Given the description of an element on the screen output the (x, y) to click on. 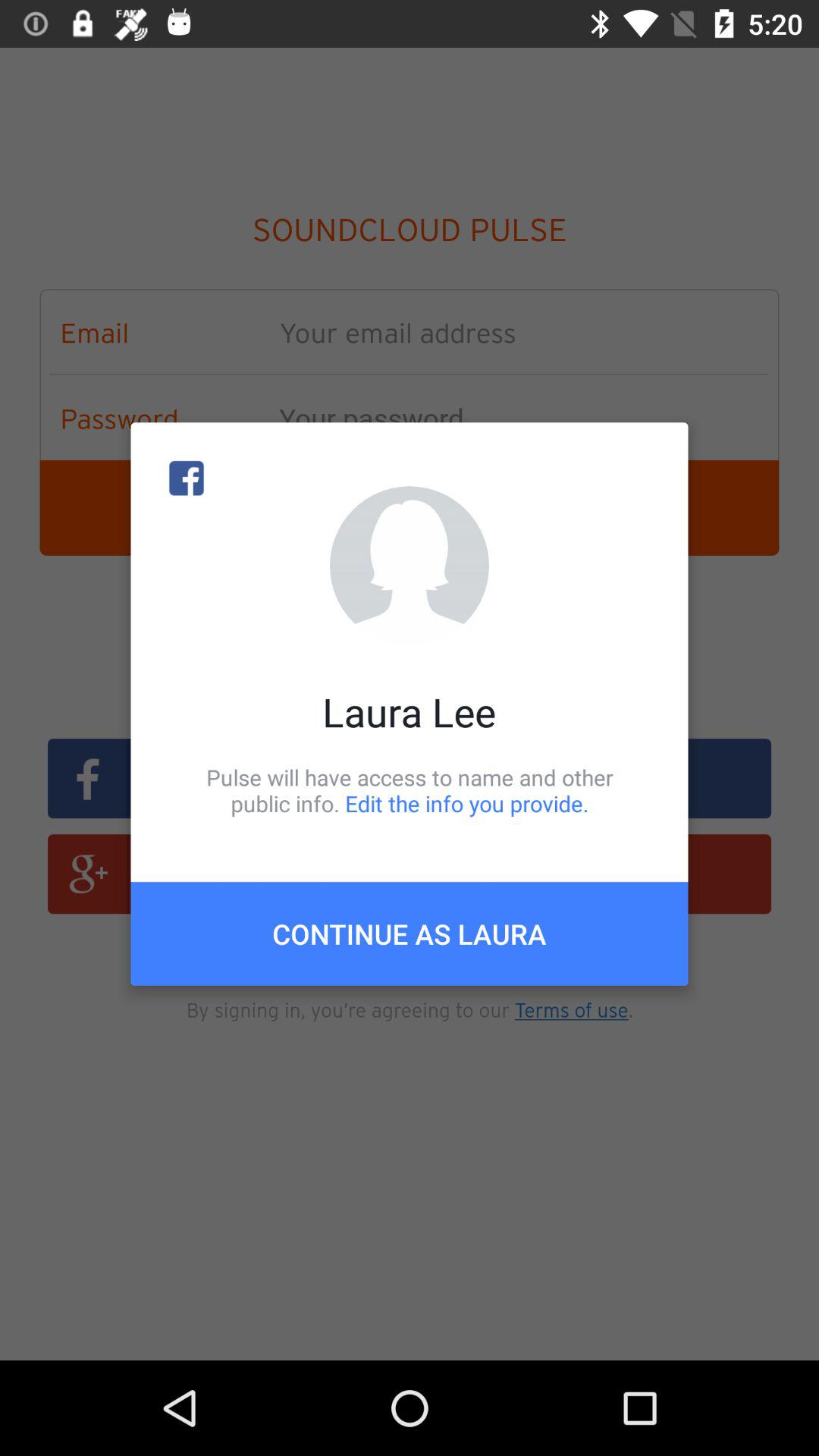
turn off item below laura lee item (409, 790)
